Given the description of an element on the screen output the (x, y) to click on. 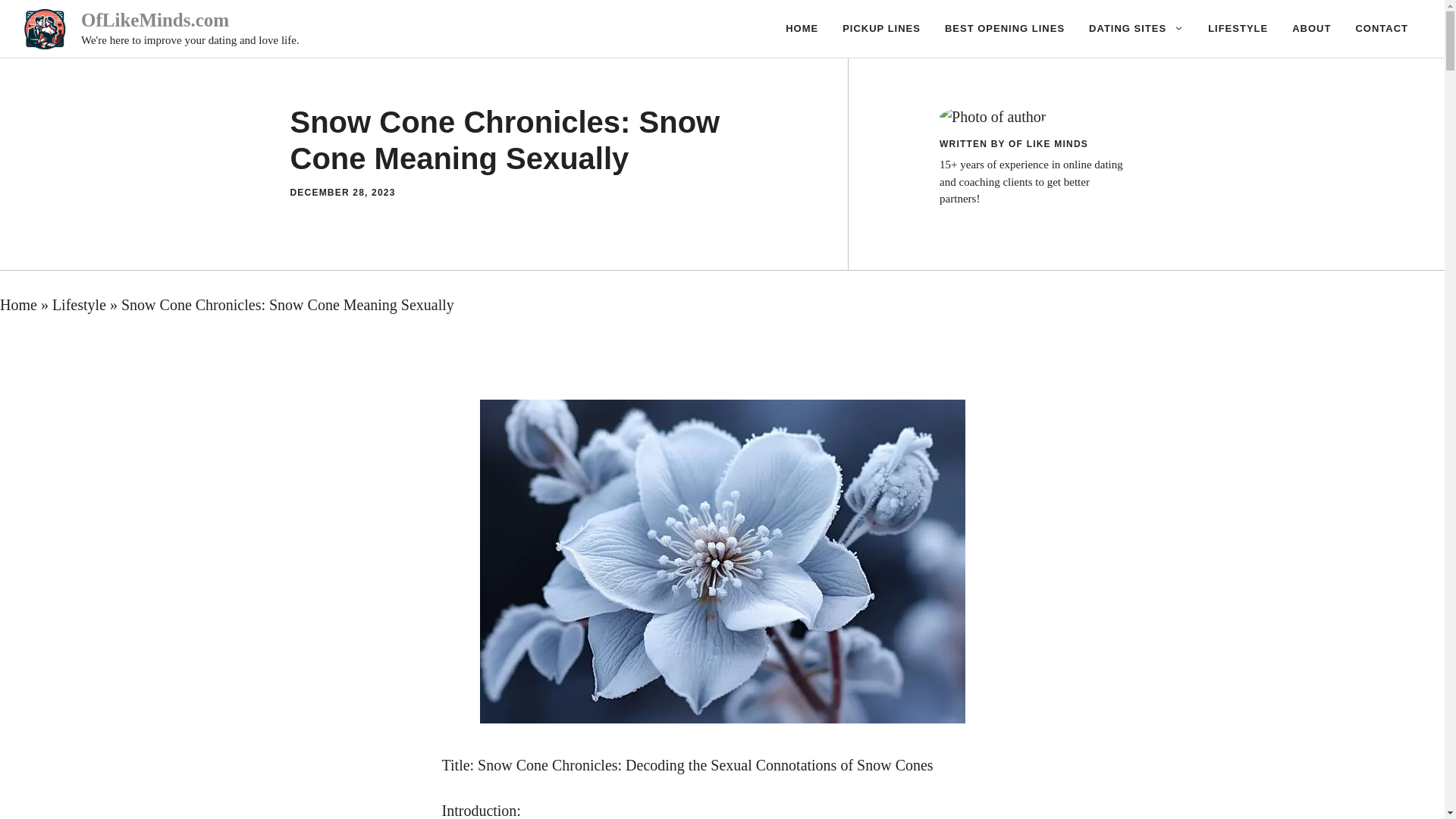
Home (18, 304)
BEST OPENING LINES (1005, 28)
OfLikeMinds.com (154, 19)
DATING SITES (1136, 28)
PICKUP LINES (881, 28)
HOME (801, 28)
CONTACT (1381, 28)
LIFESTYLE (1237, 28)
Lifestyle (79, 304)
ABOUT (1310, 28)
